Given the description of an element on the screen output the (x, y) to click on. 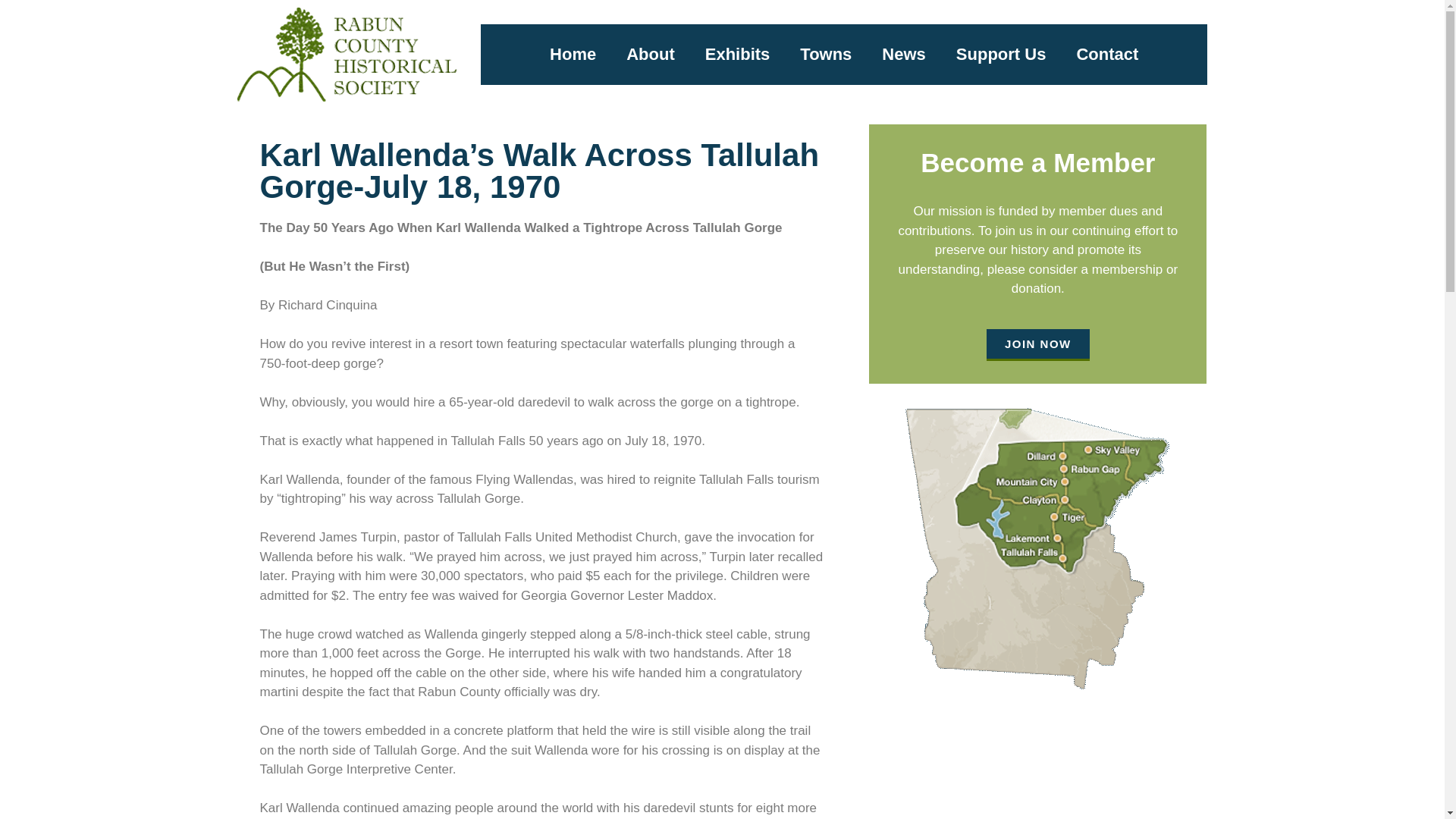
Contact (1107, 54)
Home (572, 54)
Exhibits (738, 54)
Support Us (1000, 54)
Towns (825, 54)
News (903, 54)
About (650, 54)
